Given the description of an element on the screen output the (x, y) to click on. 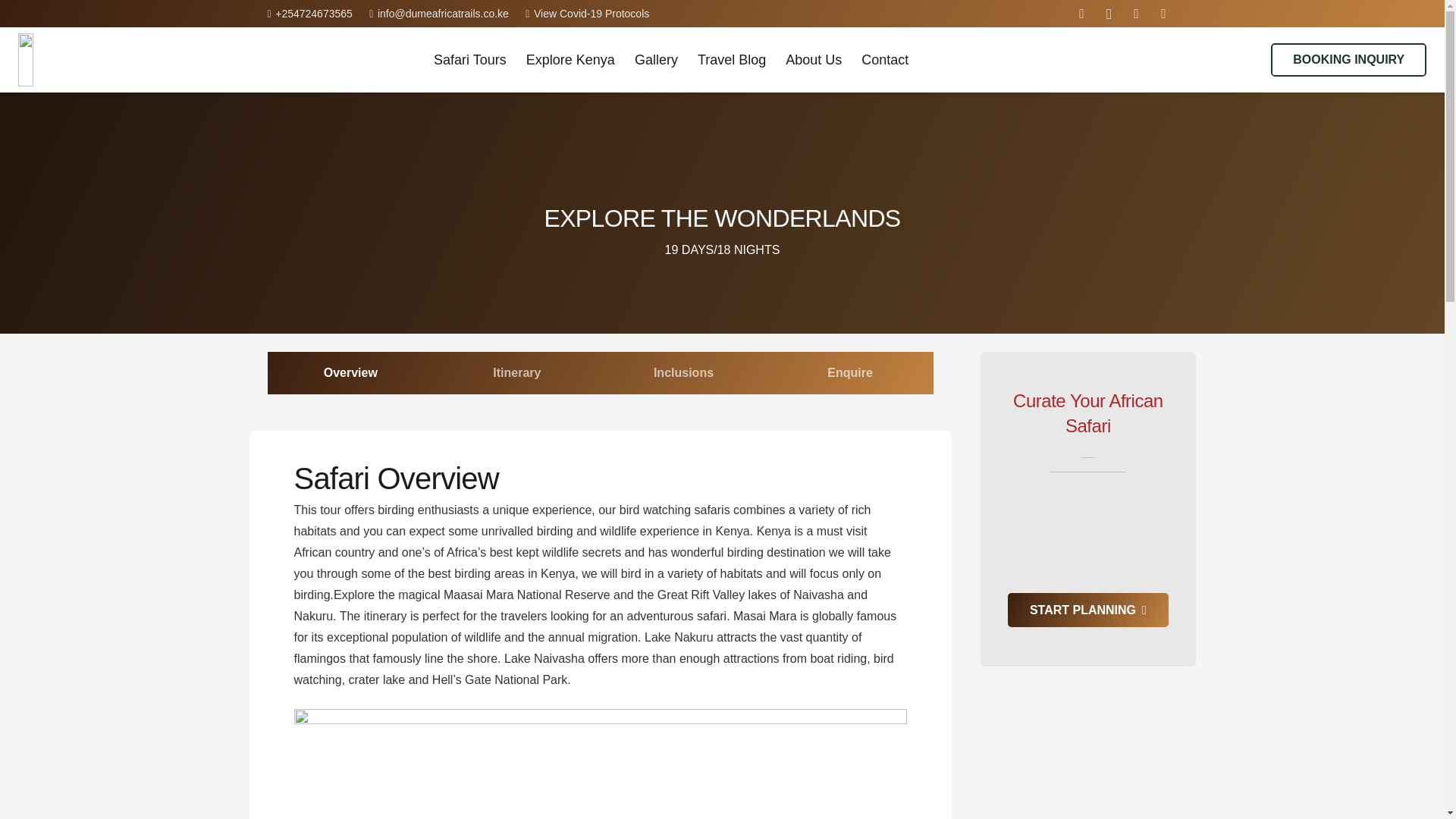
Travel Blog (731, 59)
Facebook (1082, 13)
View Covid-19 Protocols (587, 13)
Instagram (1109, 13)
Gallery (655, 59)
Twitter (1136, 13)
YouTube (1163, 13)
Explore Kenya (570, 59)
Contact Form (1088, 609)
Safari Tours (469, 59)
